Given the description of an element on the screen output the (x, y) to click on. 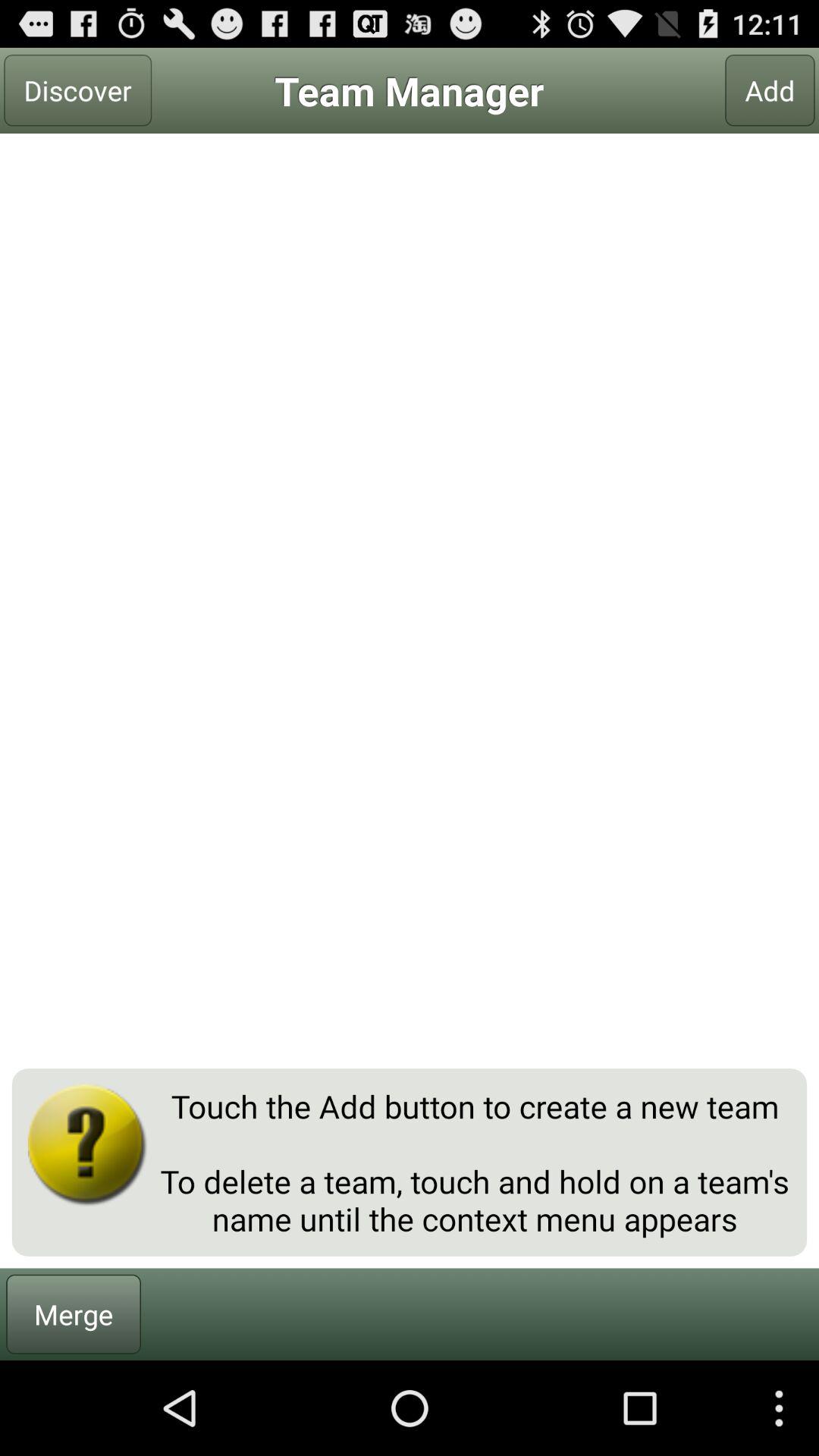
scroll to discover item (77, 90)
